Given the description of an element on the screen output the (x, y) to click on. 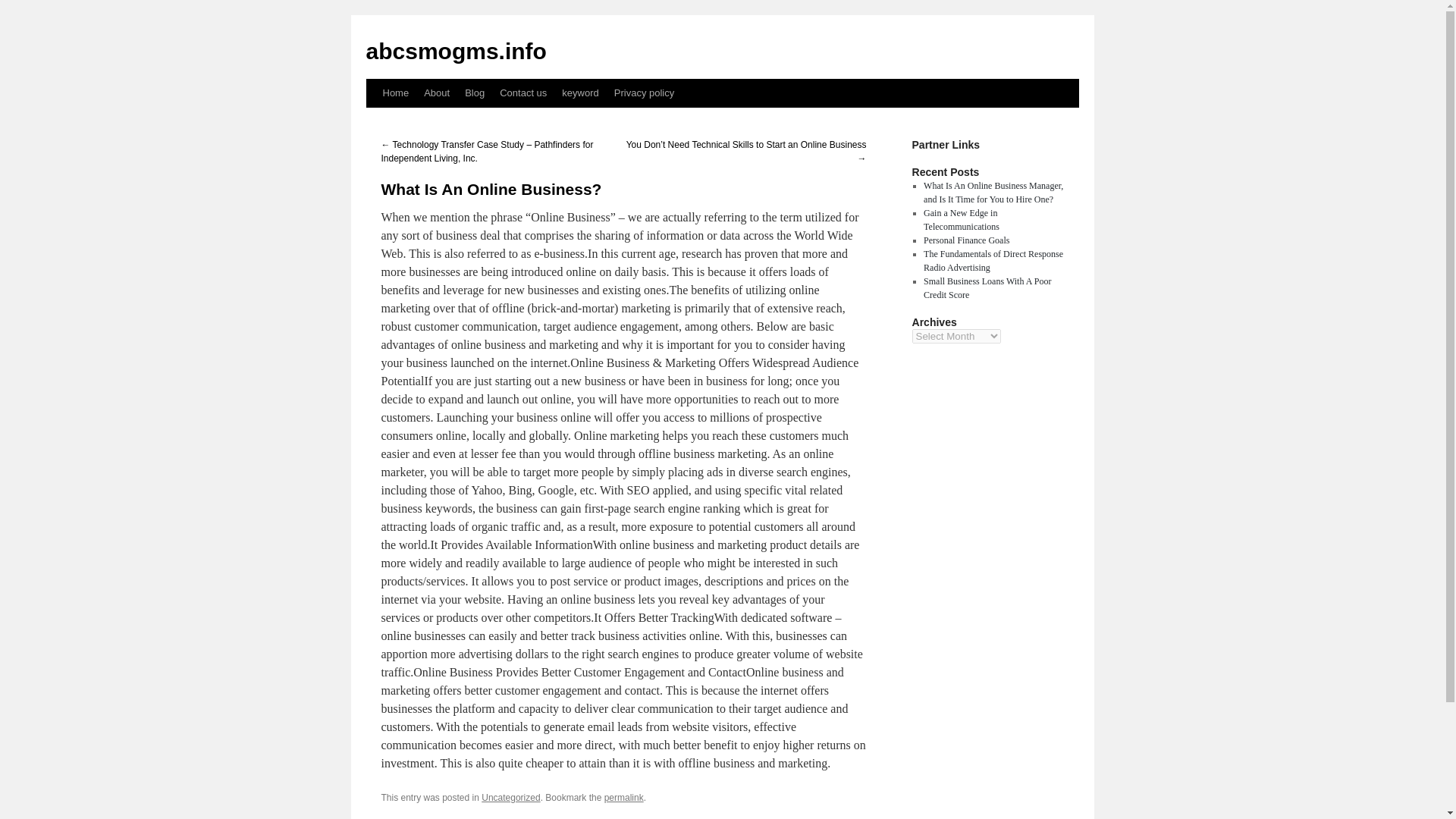
About (436, 92)
Home (395, 92)
Permalink to What Is An Online Business? (623, 797)
Privacy policy (644, 92)
Skip to content (372, 121)
Home (395, 92)
keyword (579, 92)
Blog (474, 92)
The Fundamentals of Direct Response Radio Advertising (992, 260)
About (436, 92)
Uncategorized (510, 797)
Personal Finance Goals (966, 240)
Blog (474, 92)
Gain a New Edge in Telecommunications (960, 219)
